Given the description of an element on the screen output the (x, y) to click on. 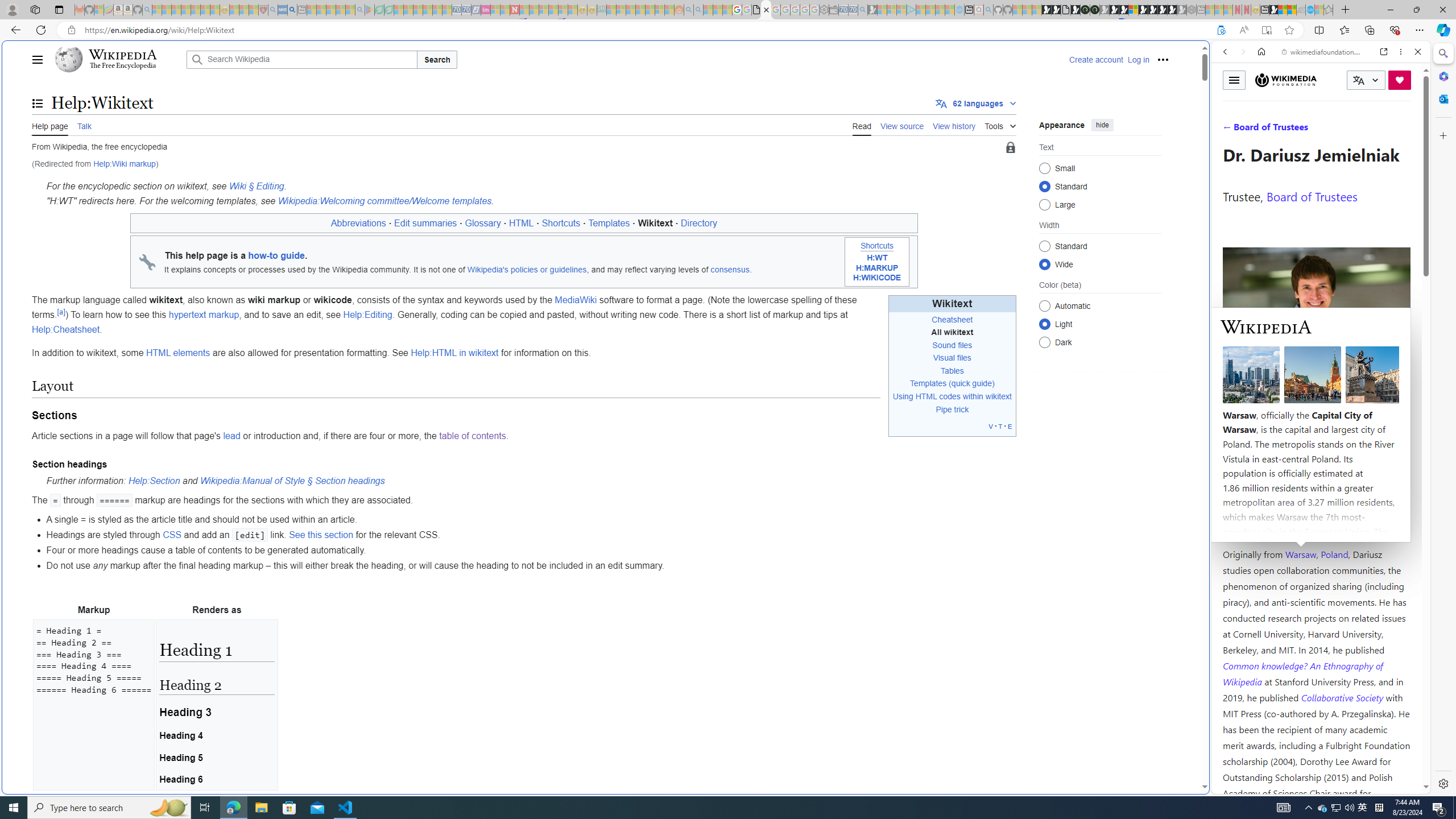
[a] (60, 311)
Class: mw-list-item mw-list-item-js (1100, 323)
Personal tools (1162, 59)
Directory (699, 222)
